Given the description of an element on the screen output the (x, y) to click on. 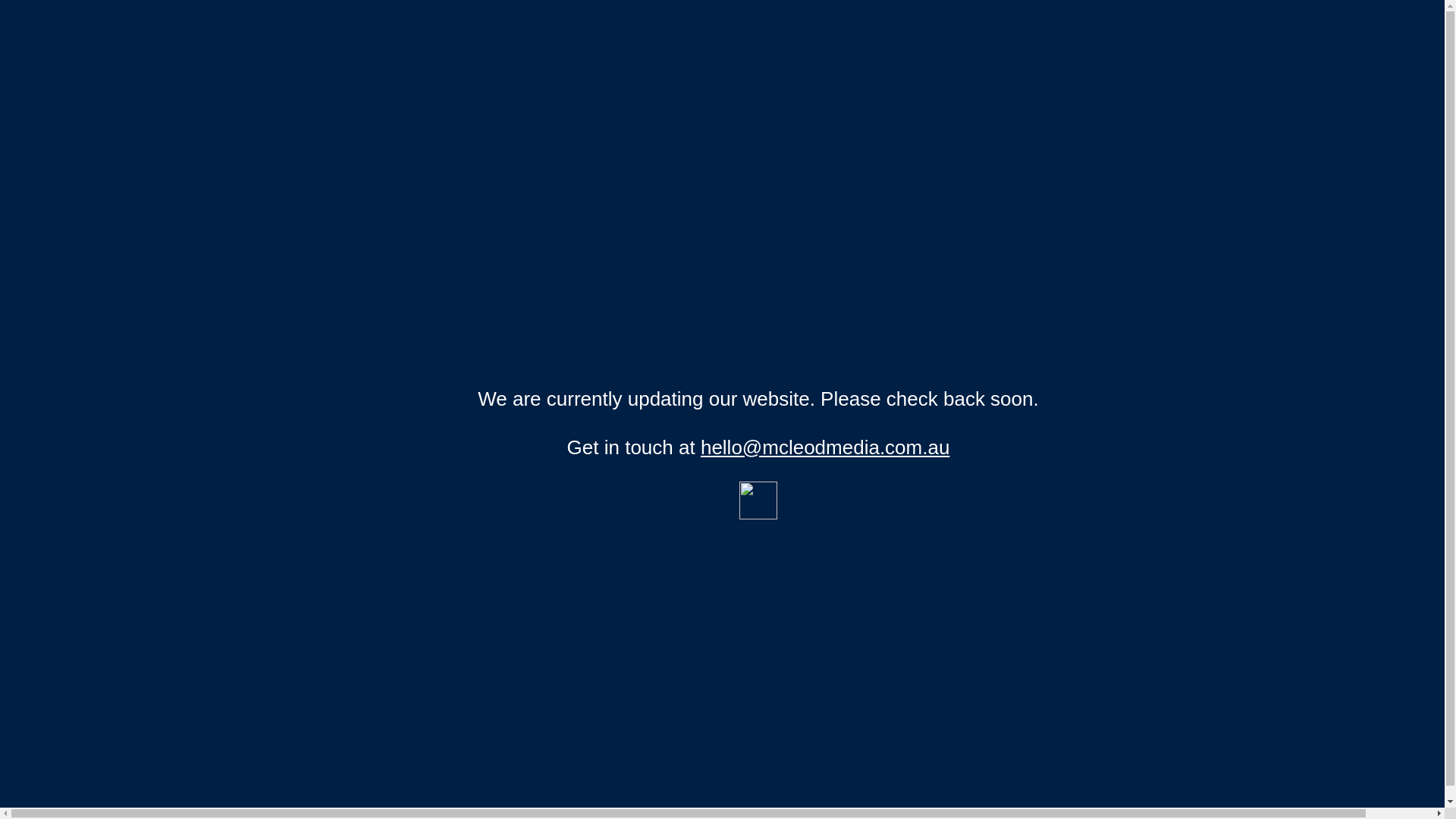
hello@mcleodmedia.com.au Element type: text (824, 446)
